Given the description of an element on the screen output the (x, y) to click on. 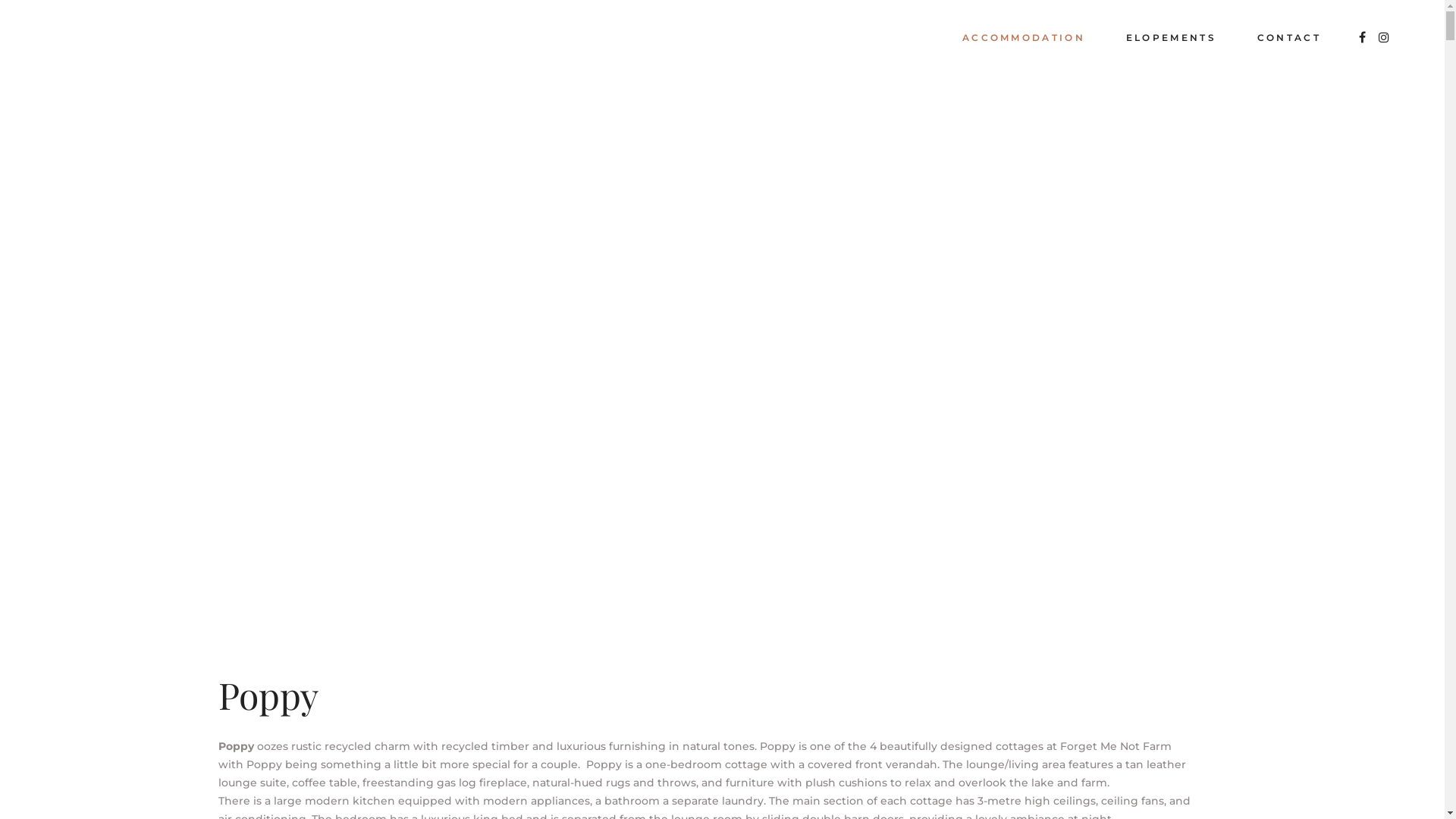
Forget Me Not Farm Cottages Element type: hover (630, 362)
ACCOMMODATION Element type: text (1023, 37)
CONTACT Element type: text (1288, 37)
ELOPEMENTS Element type: text (1170, 37)
